Given the description of an element on the screen output the (x, y) to click on. 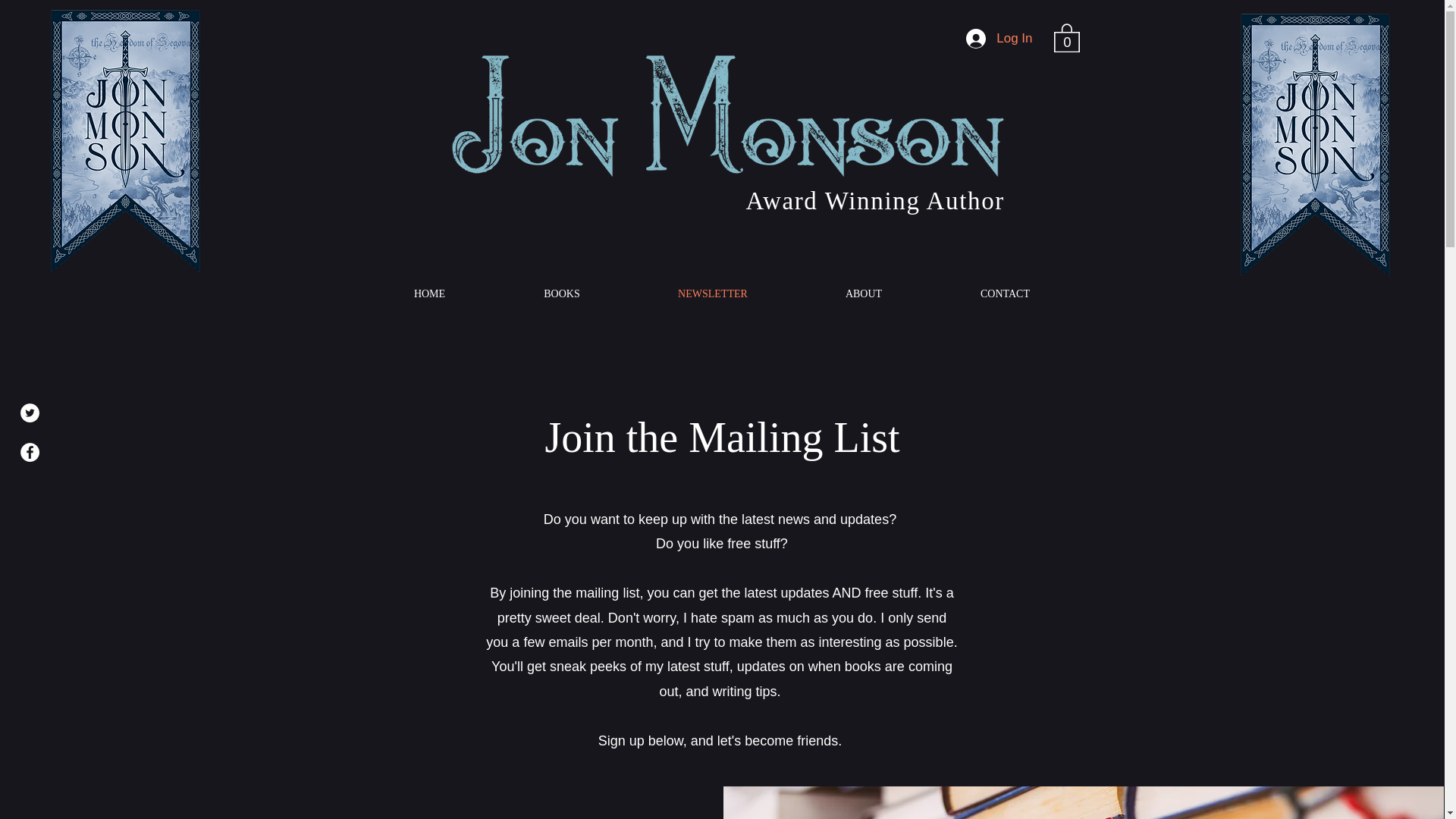
BOOKS (561, 293)
HOME (429, 293)
Log In (998, 38)
CONTACT (1005, 293)
NEWSLETTER (712, 293)
ABOUT (863, 293)
